Given the description of an element on the screen output the (x, y) to click on. 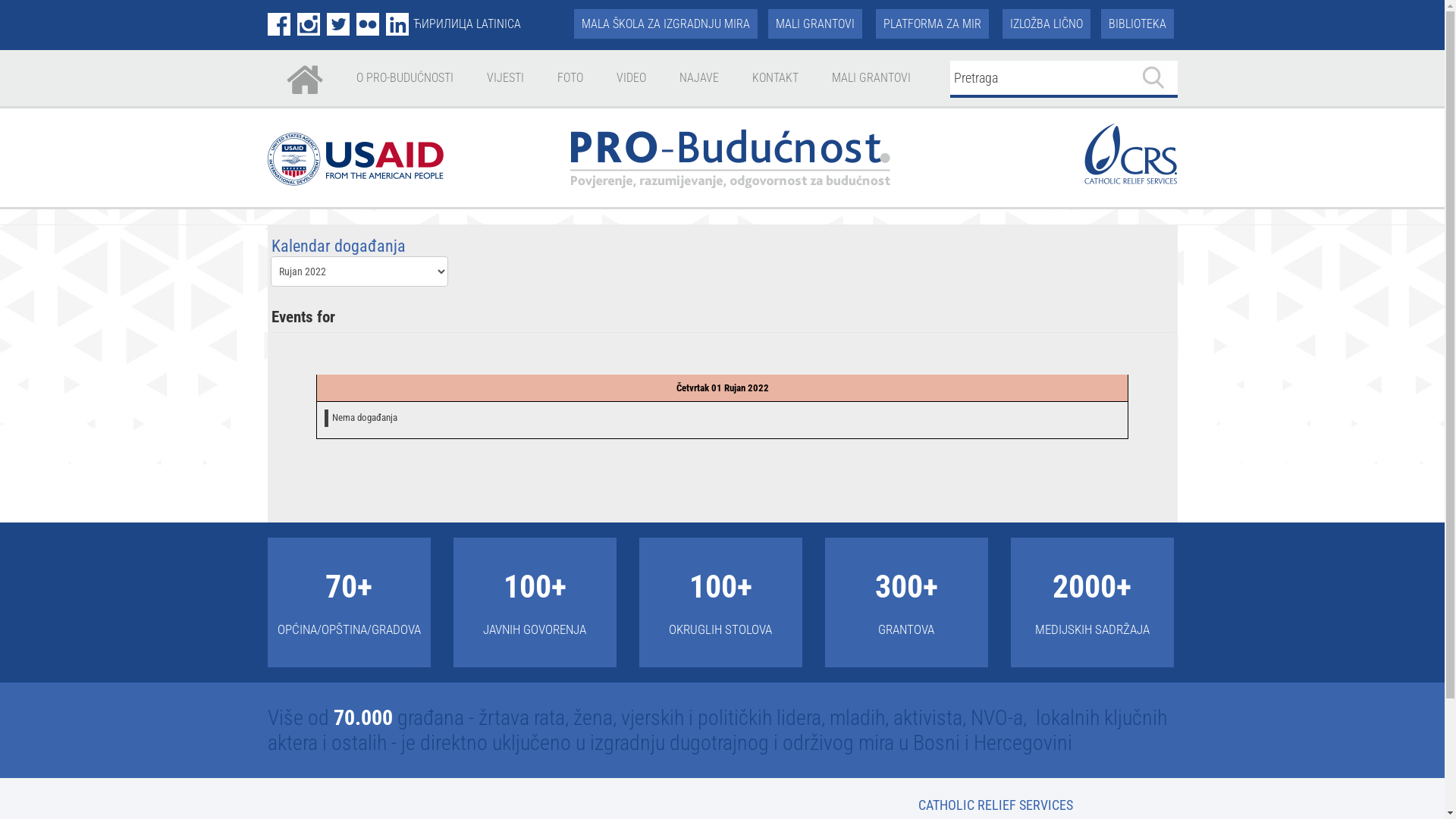
FOTO Element type: text (570, 78)
MALI GRANTOVI Element type: text (871, 78)
OKRUGLIH STOLOVA Element type: text (719, 629)
BIBLIOTEKA Element type: text (1137, 23)
70.000 Element type: text (362, 717)
KONTAKT Element type: text (774, 78)
VIJESTI Element type: text (504, 78)
LATINICA Element type: text (498, 23)
VIDEO Element type: text (630, 78)
JAVNIH GOVORENJA Element type: text (534, 629)
GRANTOVA Element type: text (906, 629)
NAJAVE Element type: text (698, 78)
PLATFORMA ZA MIR Element type: text (931, 23)
MALI GRANTOVI Element type: text (814, 23)
